Given the description of an element on the screen output the (x, y) to click on. 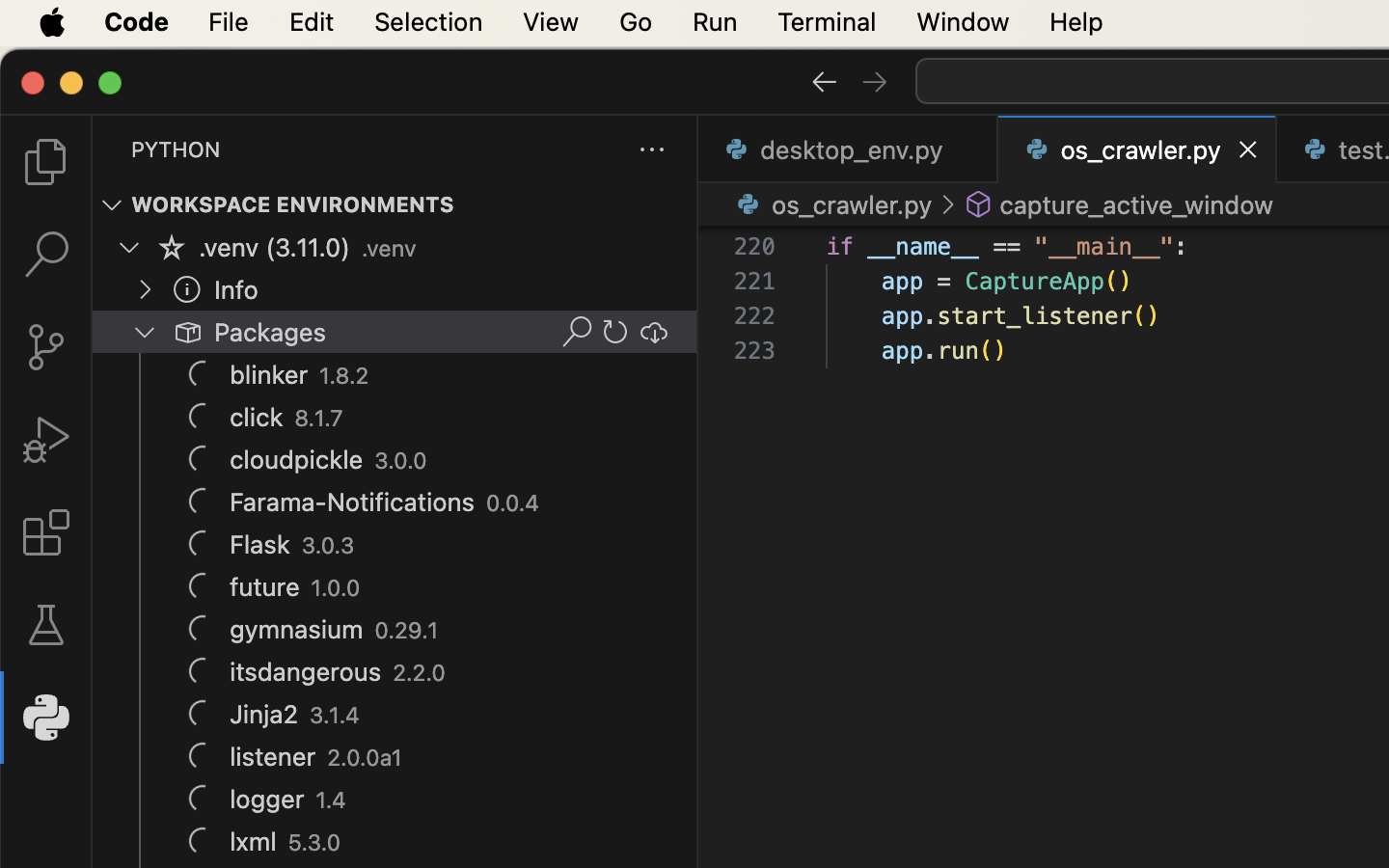
blinker Element type: AXStaticText (268, 374)
Flask Element type: AXStaticText (260, 544)
PYTHON Element type: AXStaticText (176, 149)
2.0.0a1 Element type: AXStaticText (365, 757)
capture_active_window Element type: AXGroup (1136, 204)
